Given the description of an element on the screen output the (x, y) to click on. 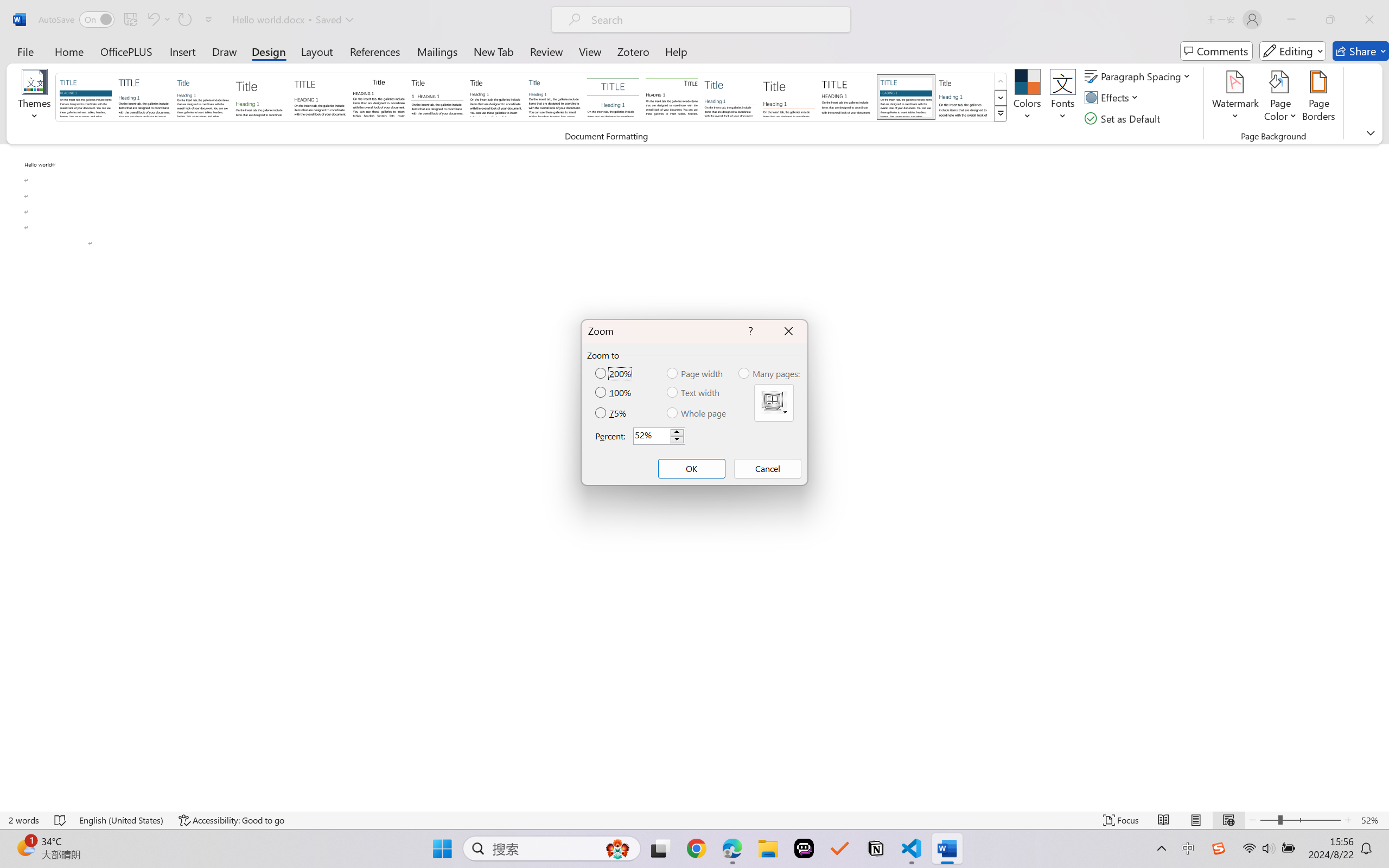
Casual (554, 96)
Black & White (Classic) (379, 96)
Themes (34, 97)
AutomationID: BadgeAnchorLargeTicker (24, 847)
Document (85, 96)
Zoom In (1348, 819)
Class: NetUIScrollBar (1382, 477)
Comments (1216, 50)
Restore Down (1330, 19)
Undo Apply Quick Style Set (152, 19)
Print Layout (1196, 819)
